Given the description of an element on the screen output the (x, y) to click on. 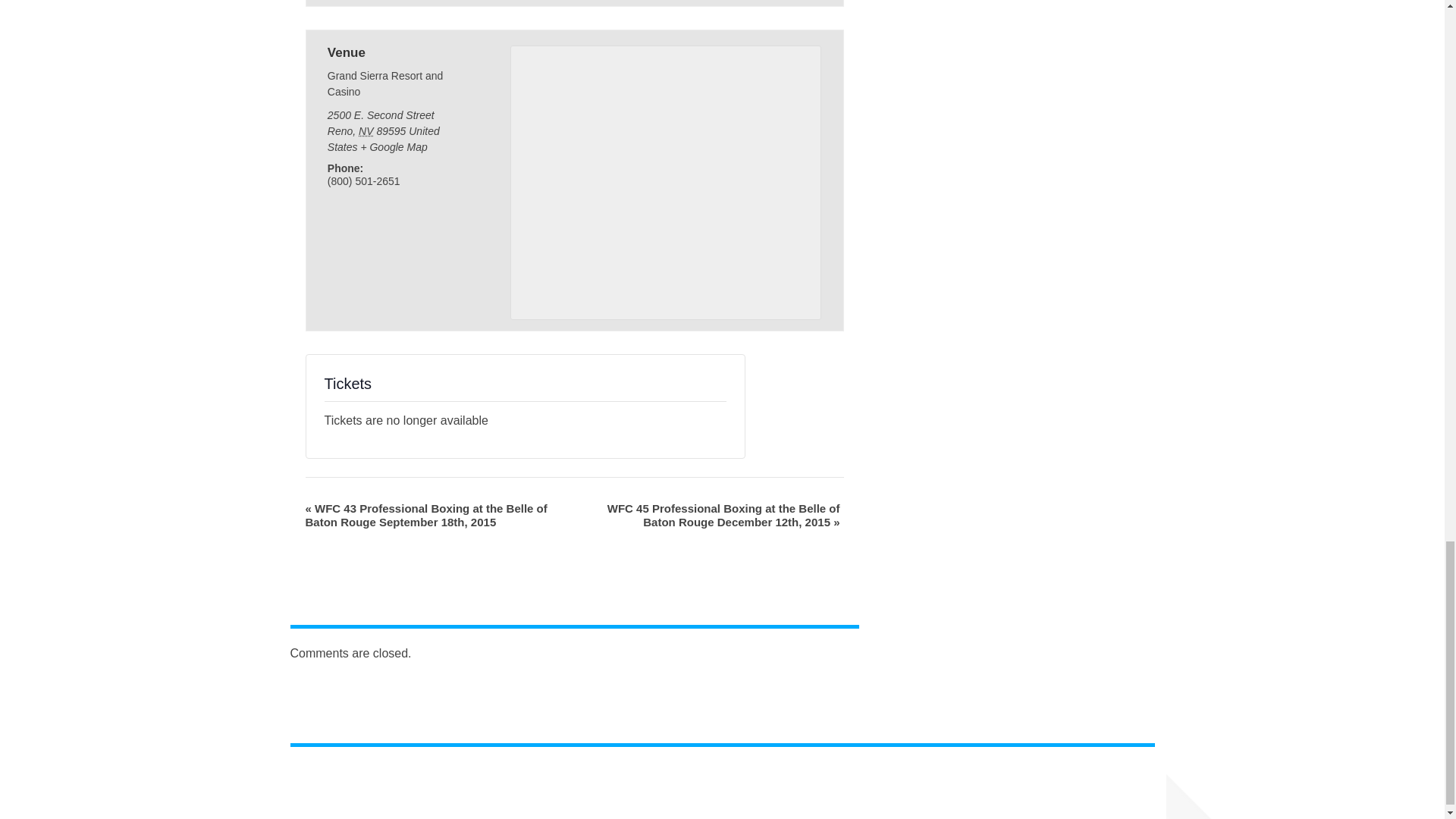
Nevada (365, 131)
Click to view a Google Map (392, 146)
